Given the description of an element on the screen output the (x, y) to click on. 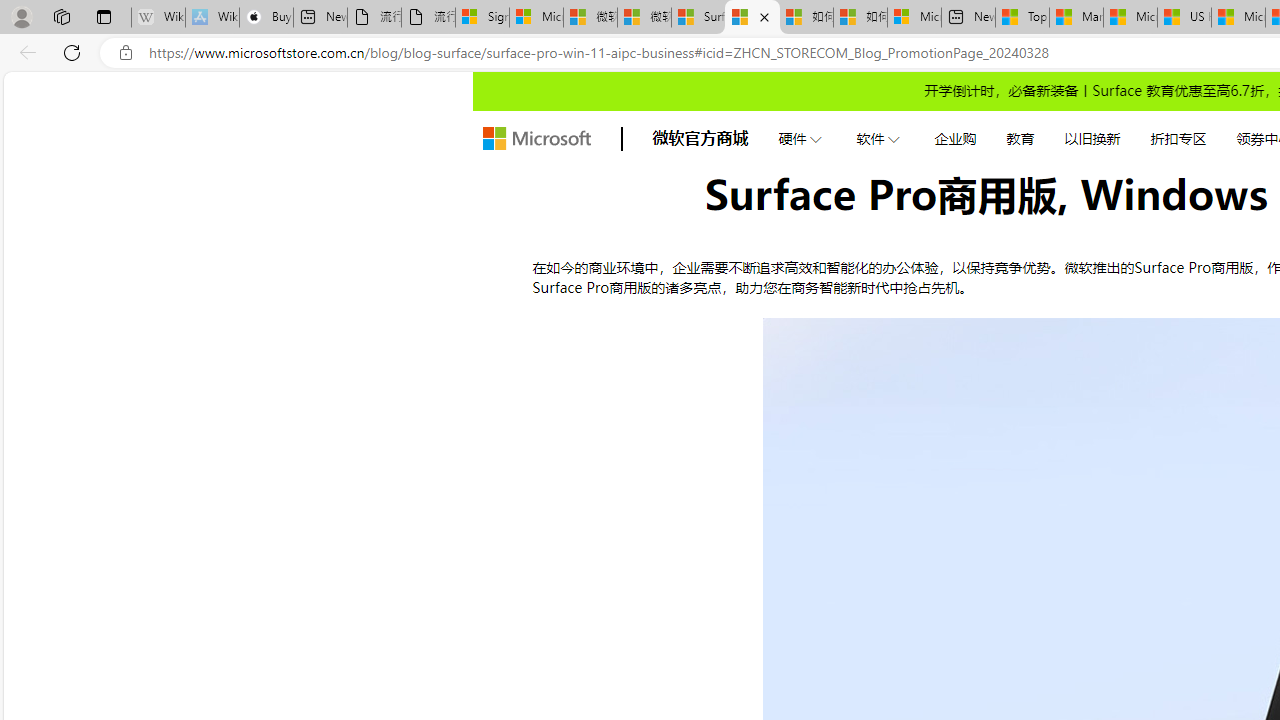
US Heat Deaths Soared To Record High Last Year (1184, 17)
Microsoft (536, 138)
Buy iPad - Apple (266, 17)
store logo (536, 138)
